Given the description of an element on the screen output the (x, y) to click on. 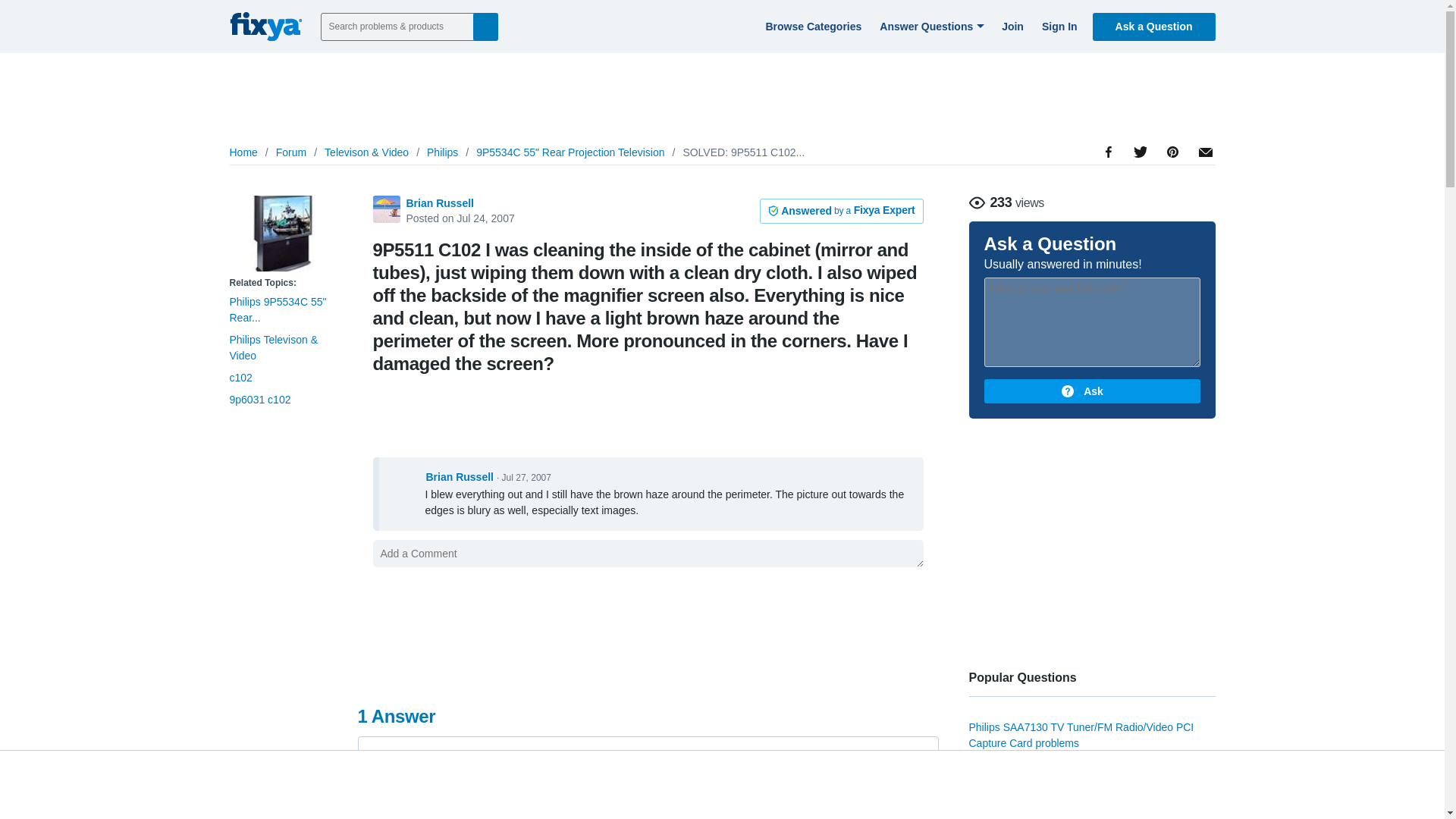
Answer Questions (929, 26)
Forum (290, 152)
Brian Russell (440, 203)
Share on Twitter (1139, 188)
Ask (1091, 391)
Share on Facebook (1108, 194)
Home (242, 152)
Share by Email (1202, 176)
Search Fixya (485, 26)
Share on Pinterest (1170, 194)
9P5534C 55" Rear Projection Television (569, 152)
Philips (442, 152)
Share on Facebook (1108, 194)
Ask a Question (1154, 26)
Sign In (1056, 26)
